Given the description of an element on the screen output the (x, y) to click on. 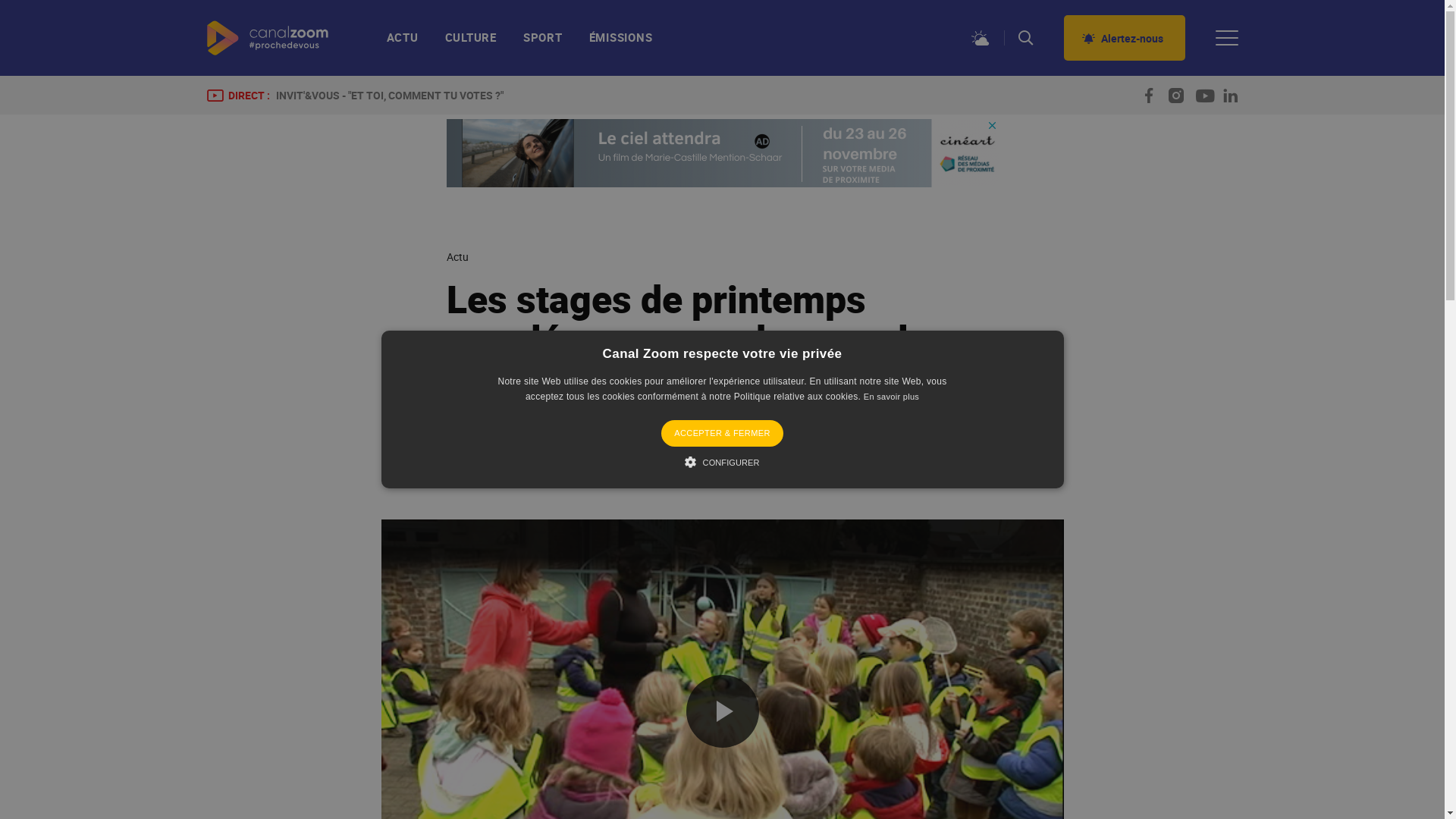
ACTU Element type: text (408, 43)
Perwez Element type: text (600, 468)
SPORT Element type: text (542, 43)
Chastre Element type: text (551, 468)
Skip to main content Element type: text (0, 0)
X Element type: text (988, 473)
Facebook Element type: text (961, 473)
3rd party ad content Element type: hover (721, 153)
Gembloux Element type: text (496, 468)
Alertez-nous Element type: text (1123, 37)
En savoir plus Element type: text (891, 396)
CULTURE Element type: text (470, 43)
Actu Element type: text (456, 256)
INVIT'&VOUS - "ET TOI, COMMENT TU VOTES ?" Element type: text (389, 95)
Walhain Element type: text (649, 468)
